Given the description of an element on the screen output the (x, y) to click on. 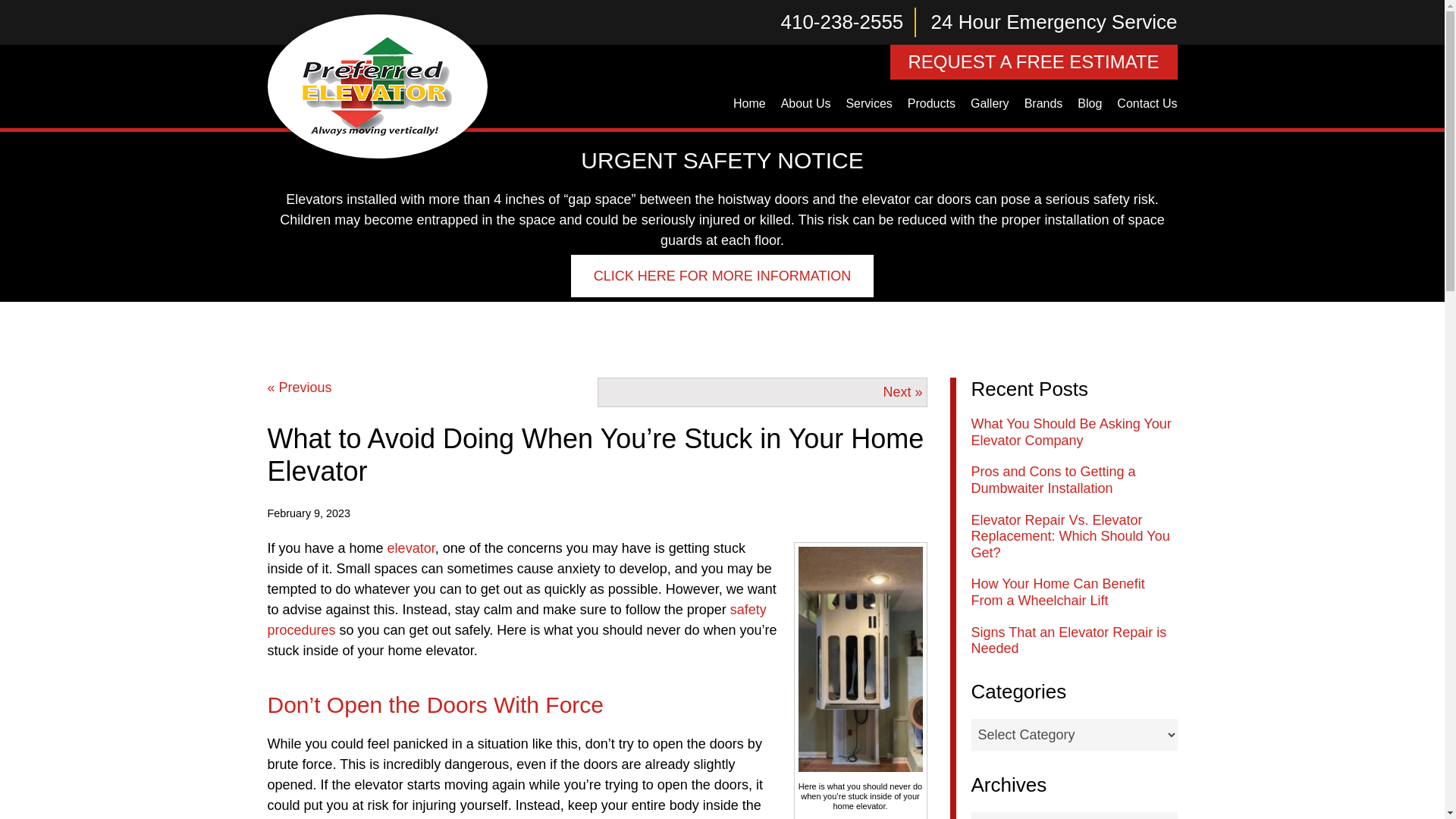
410-238-2555 (848, 21)
Preferred Elevator (376, 85)
elevator (411, 548)
Gallery (989, 103)
Blog (1089, 103)
About Us (805, 103)
Contact Us (1147, 103)
safety procedures (515, 619)
Products (930, 103)
Home (749, 103)
CLICK HERE FOR MORE INFORMATION (722, 275)
Brands (1043, 103)
Services (868, 103)
REQUEST A FREE ESTIMATE (1033, 62)
